Given the description of an element on the screen output the (x, y) to click on. 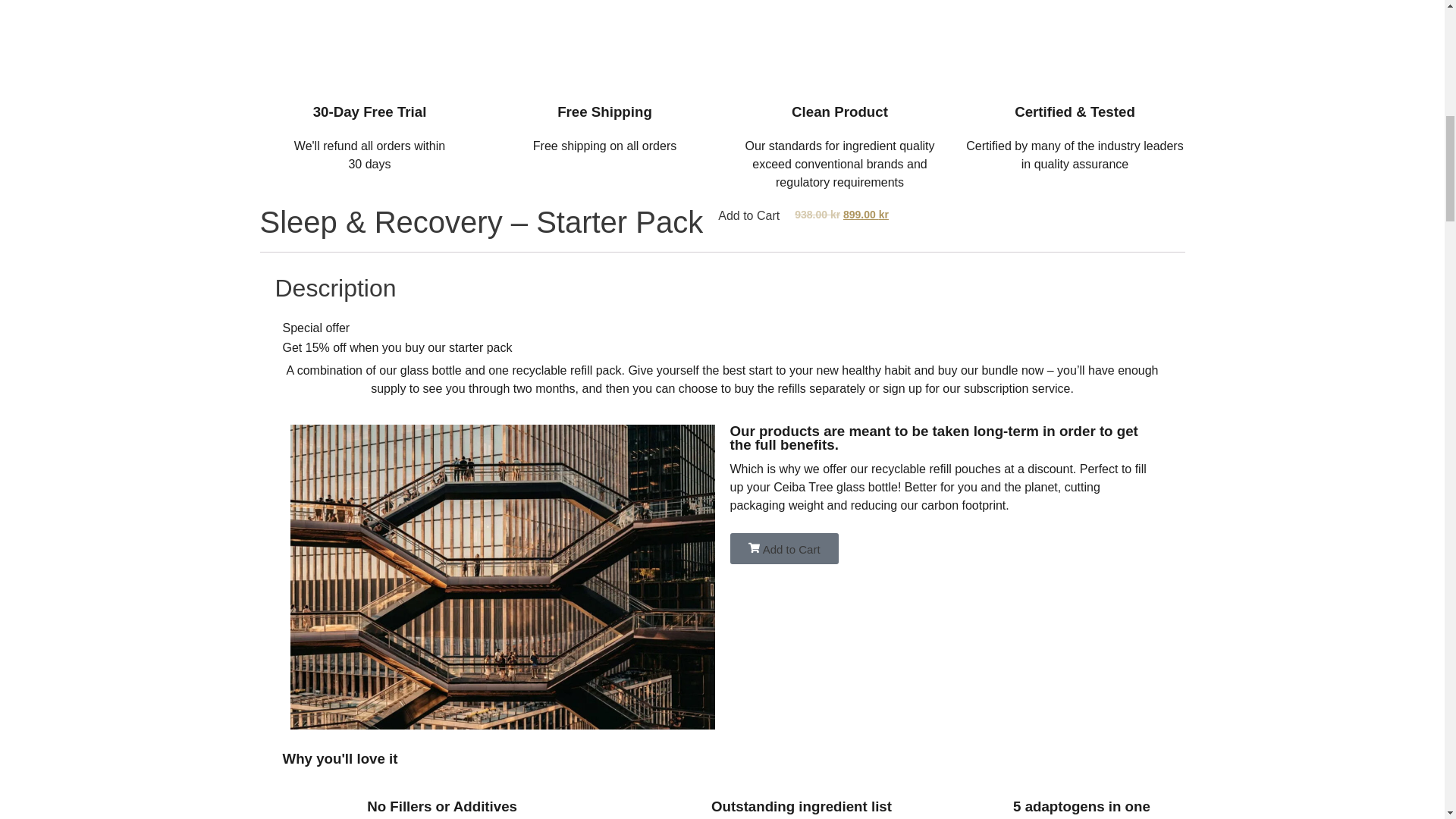
Add to Cart (747, 215)
Free Shipping (604, 111)
Clean Product (840, 111)
Add to Cart (783, 548)
30-Day Free Trial (369, 111)
